Given the description of an element on the screen output the (x, y) to click on. 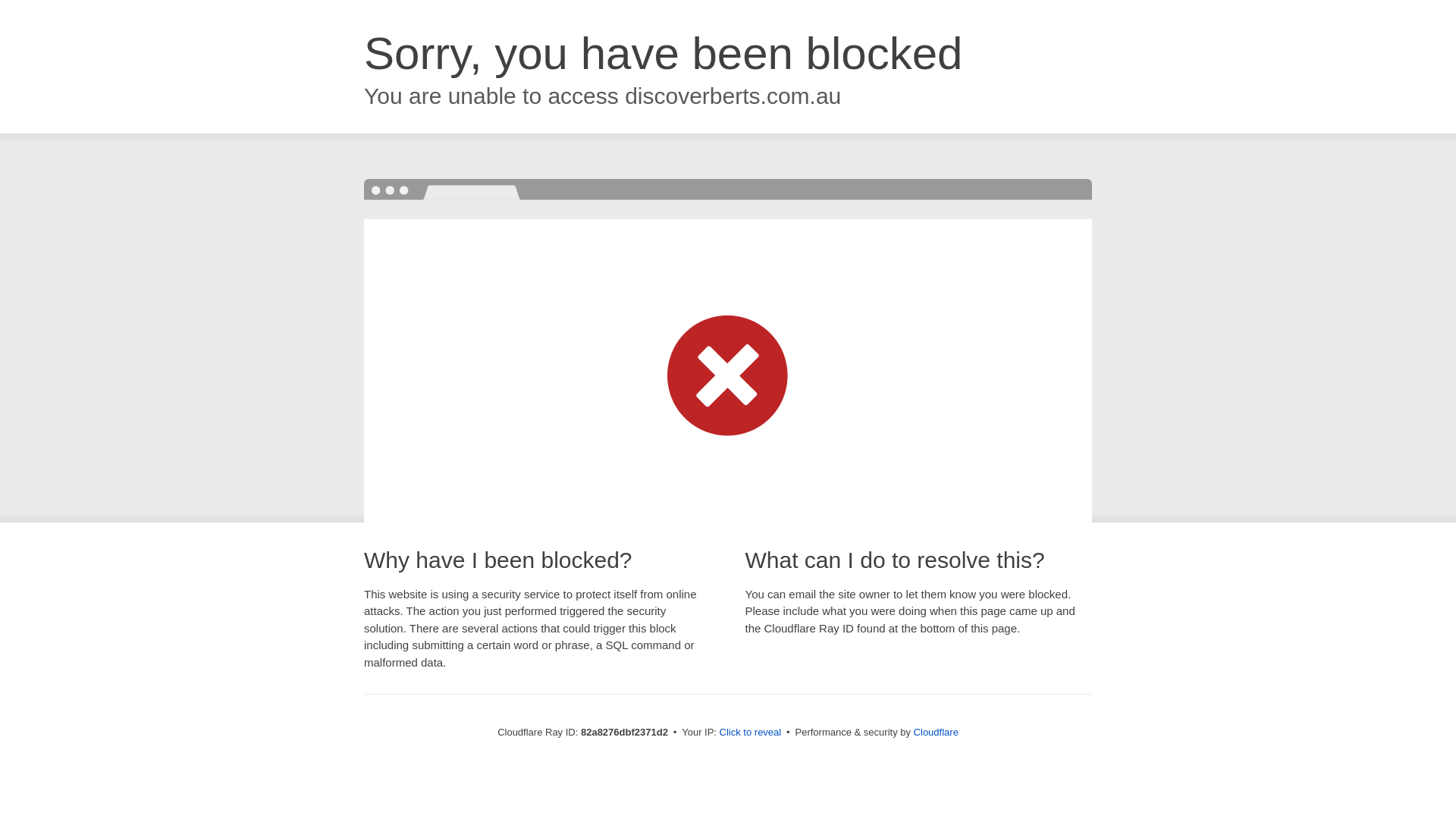
Click to reveal Element type: text (750, 732)
Cloudflare Element type: text (935, 731)
